Given the description of an element on the screen output the (x, y) to click on. 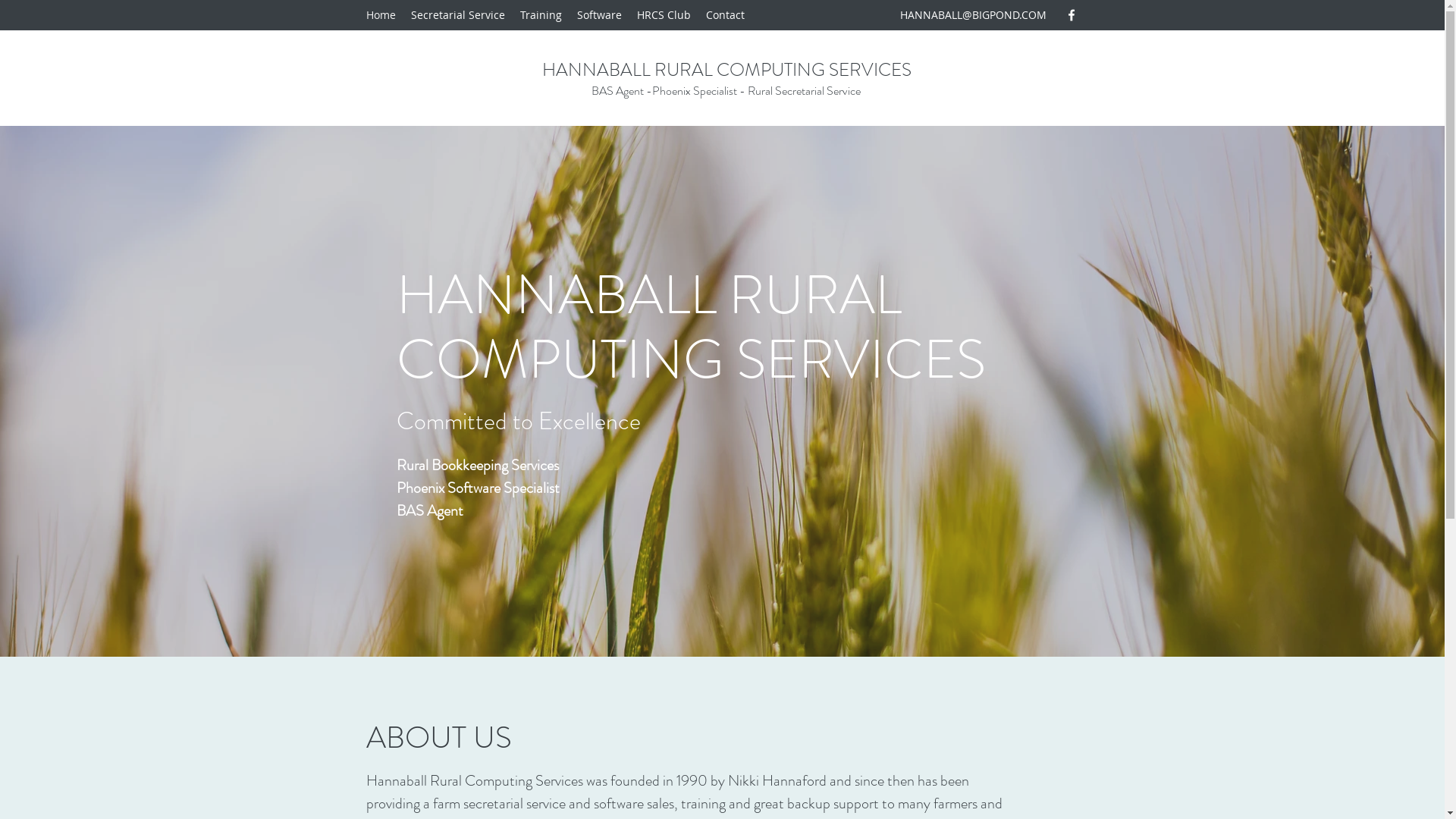
HRCS Club Element type: text (663, 14)
Software Element type: text (598, 14)
Home Element type: text (379, 14)
Secretarial Service Element type: text (457, 14)
Contact Element type: text (724, 14)
HANNABALL@BIGPOND.COM Element type: text (973, 14)
Training Element type: text (540, 14)
